Given the description of an element on the screen output the (x, y) to click on. 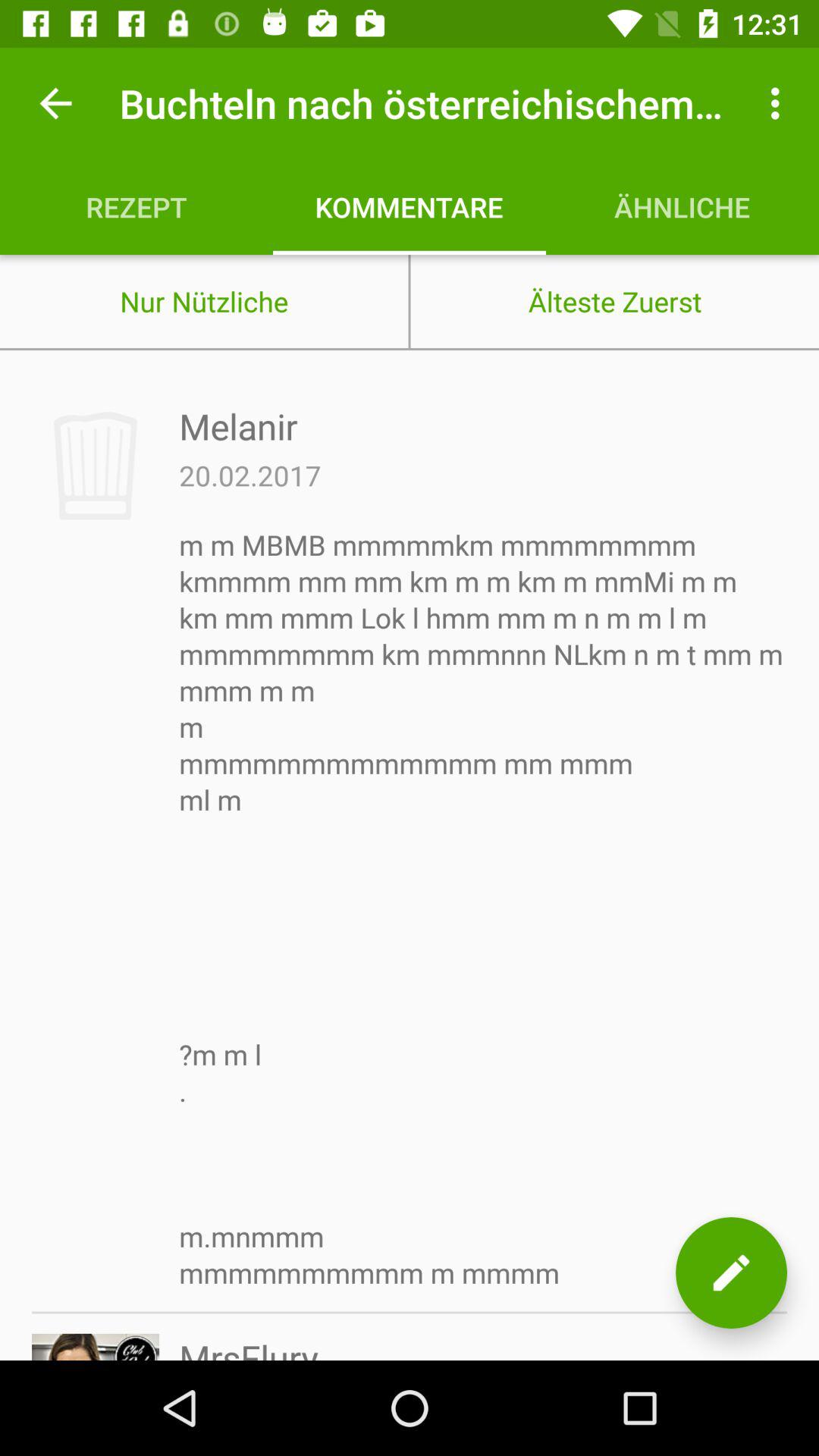
select icon at the center (483, 908)
